Given the description of an element on the screen output the (x, y) to click on. 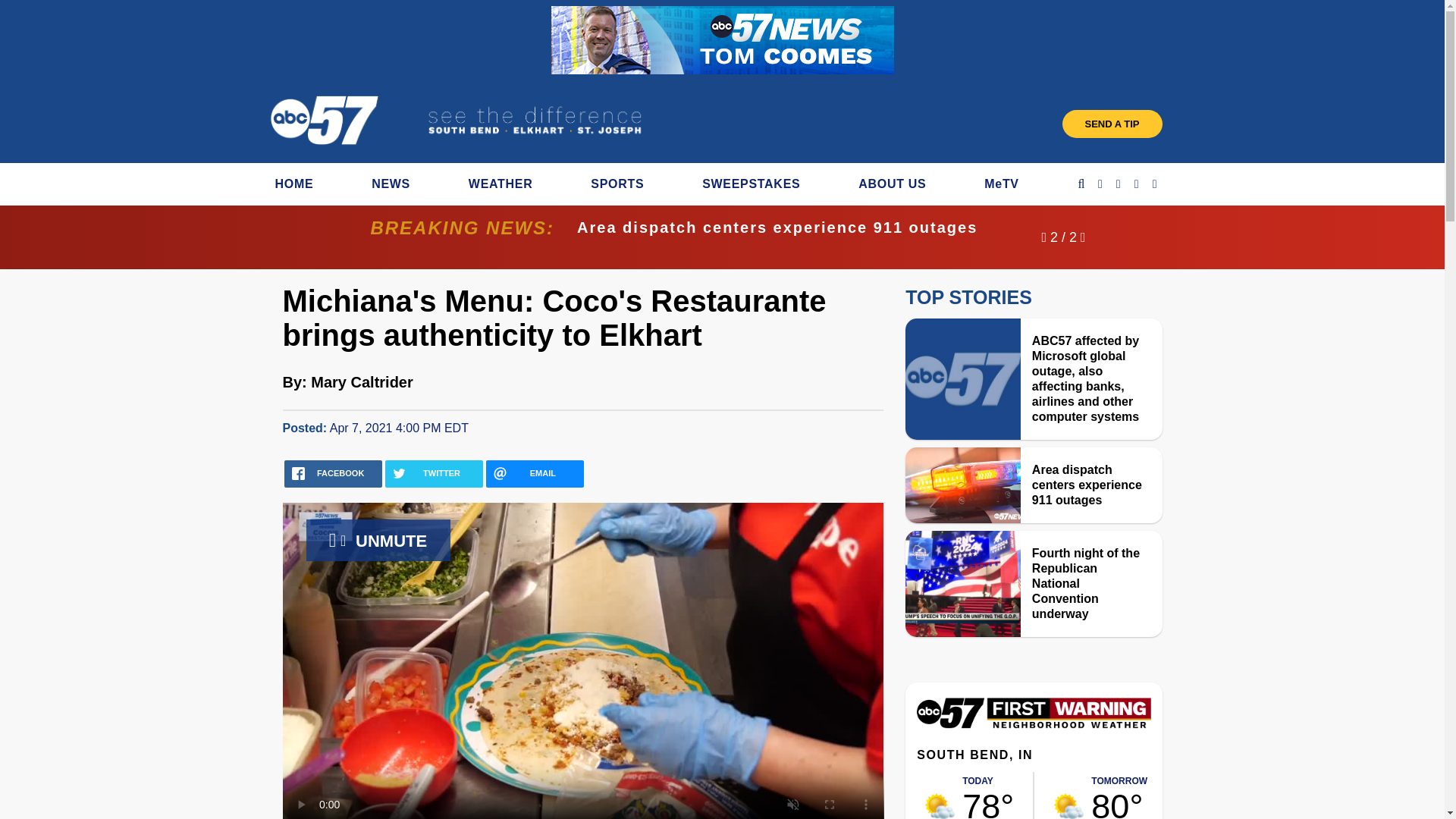
weather (989, 795)
Weather (1033, 724)
weather (939, 805)
